Given the description of an element on the screen output the (x, y) to click on. 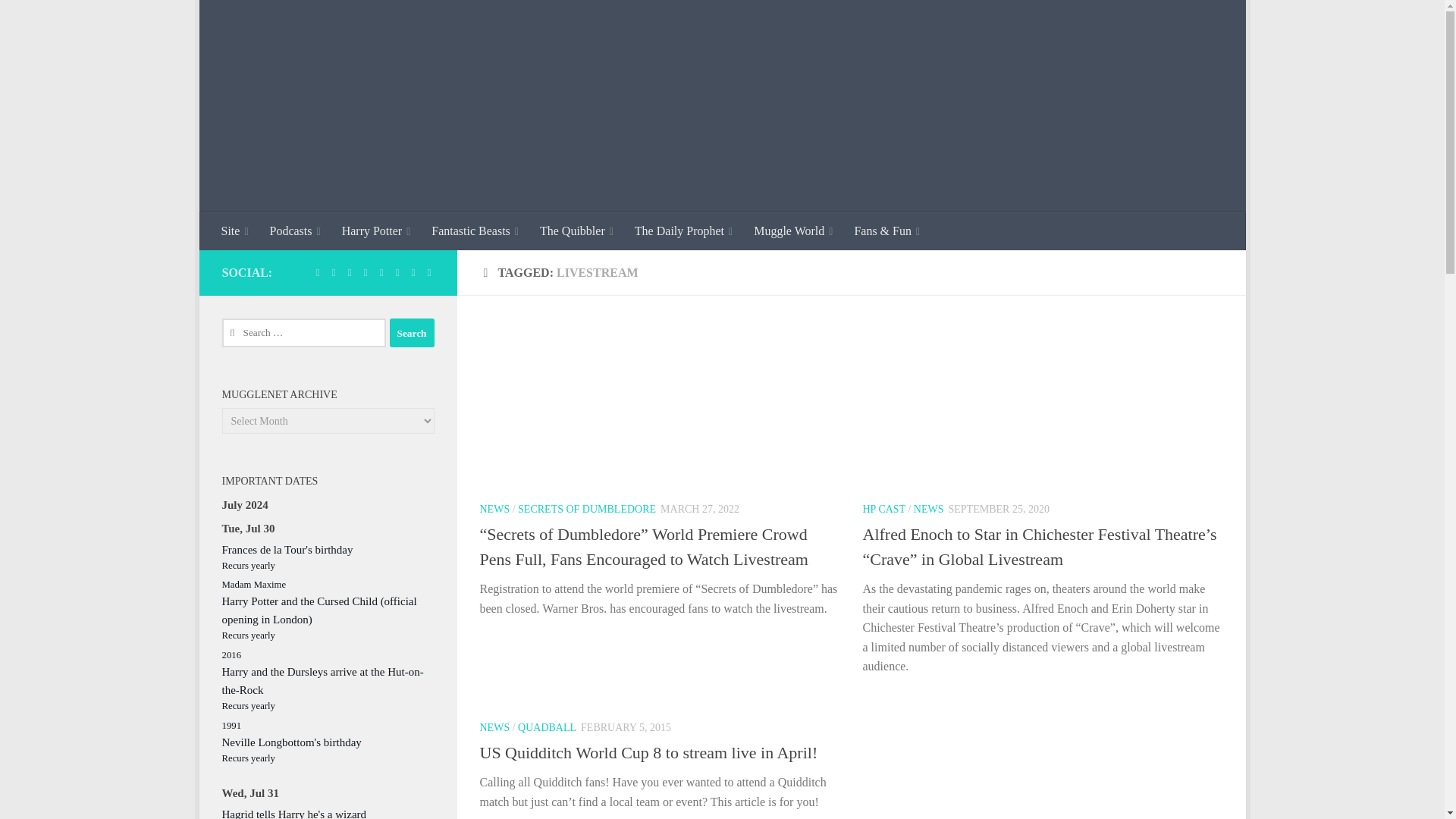
Search (411, 332)
Search (411, 332)
Skip to content (258, 20)
